Given the description of an element on the screen output the (x, y) to click on. 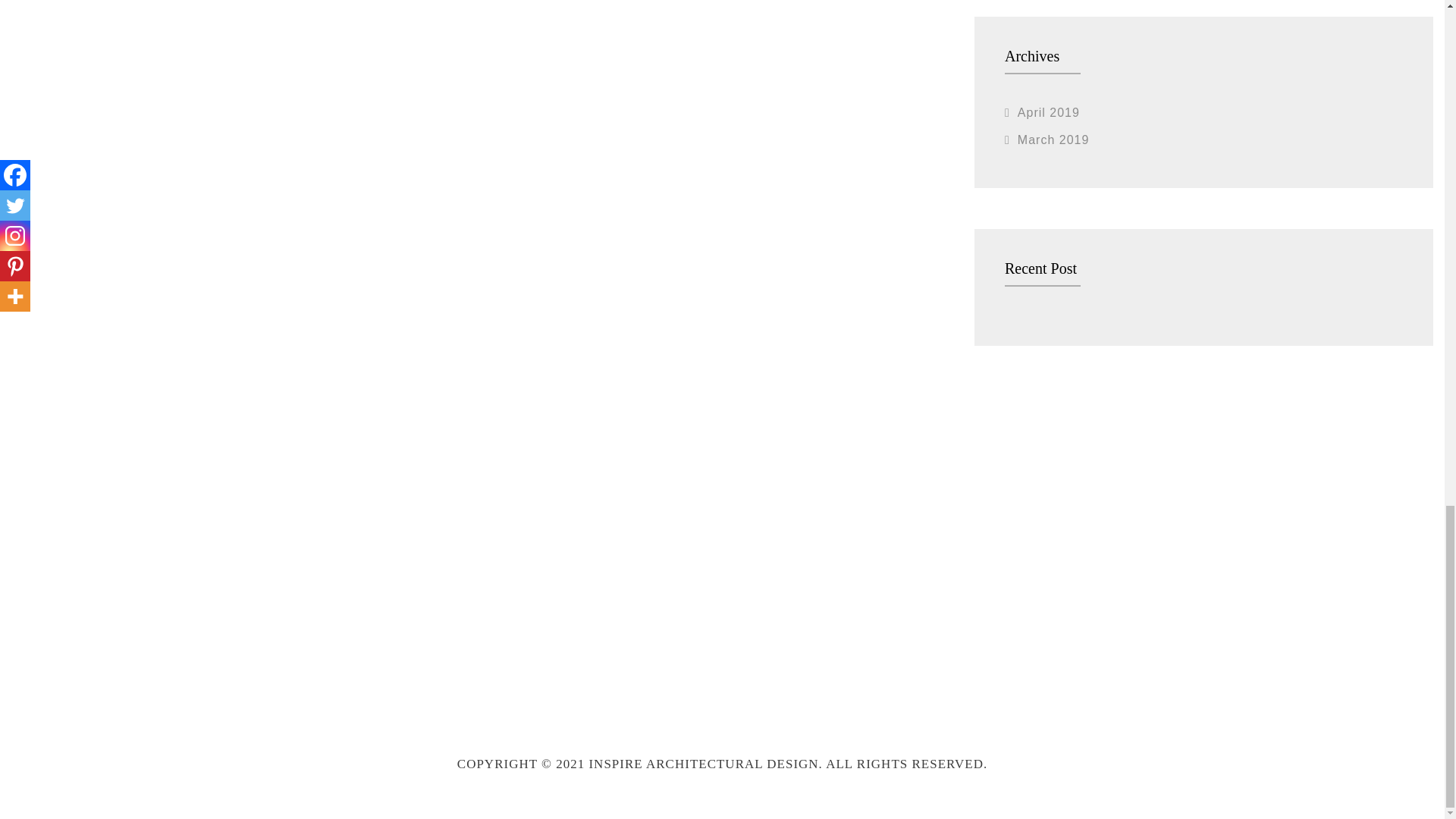
Certified Passive House Consultant (338, 562)
Certified Passive House Designer (579, 562)
The Chartered Institute of Building (1061, 562)
